Given the description of an element on the screen output the (x, y) to click on. 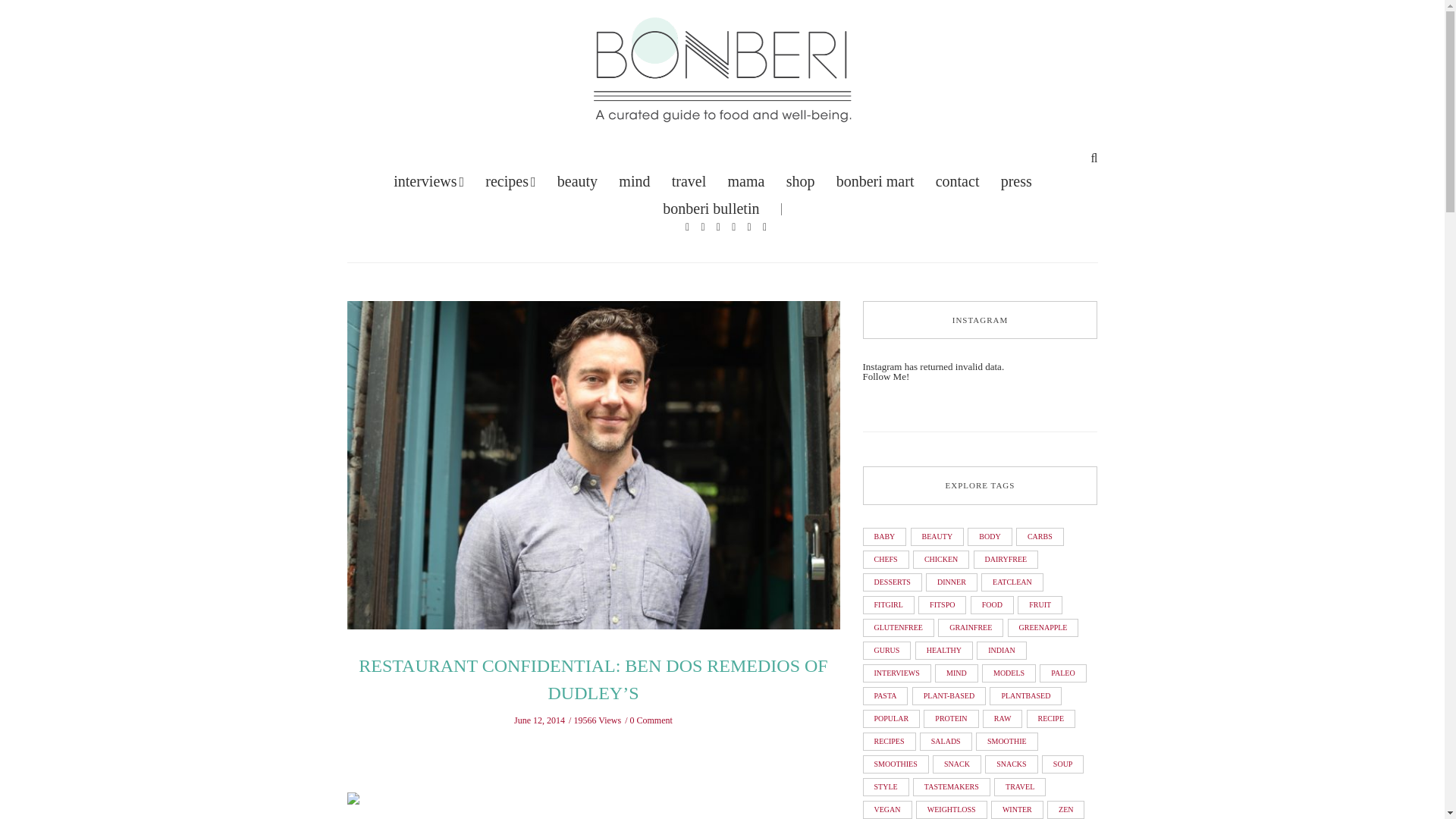
beauty (576, 180)
bonberi mart (874, 180)
interviews (428, 180)
press (1016, 180)
mama (746, 180)
travel (688, 180)
bonberi bulletin (710, 208)
recipes (509, 180)
mind (633, 180)
contact (957, 180)
